Given the description of an element on the screen output the (x, y) to click on. 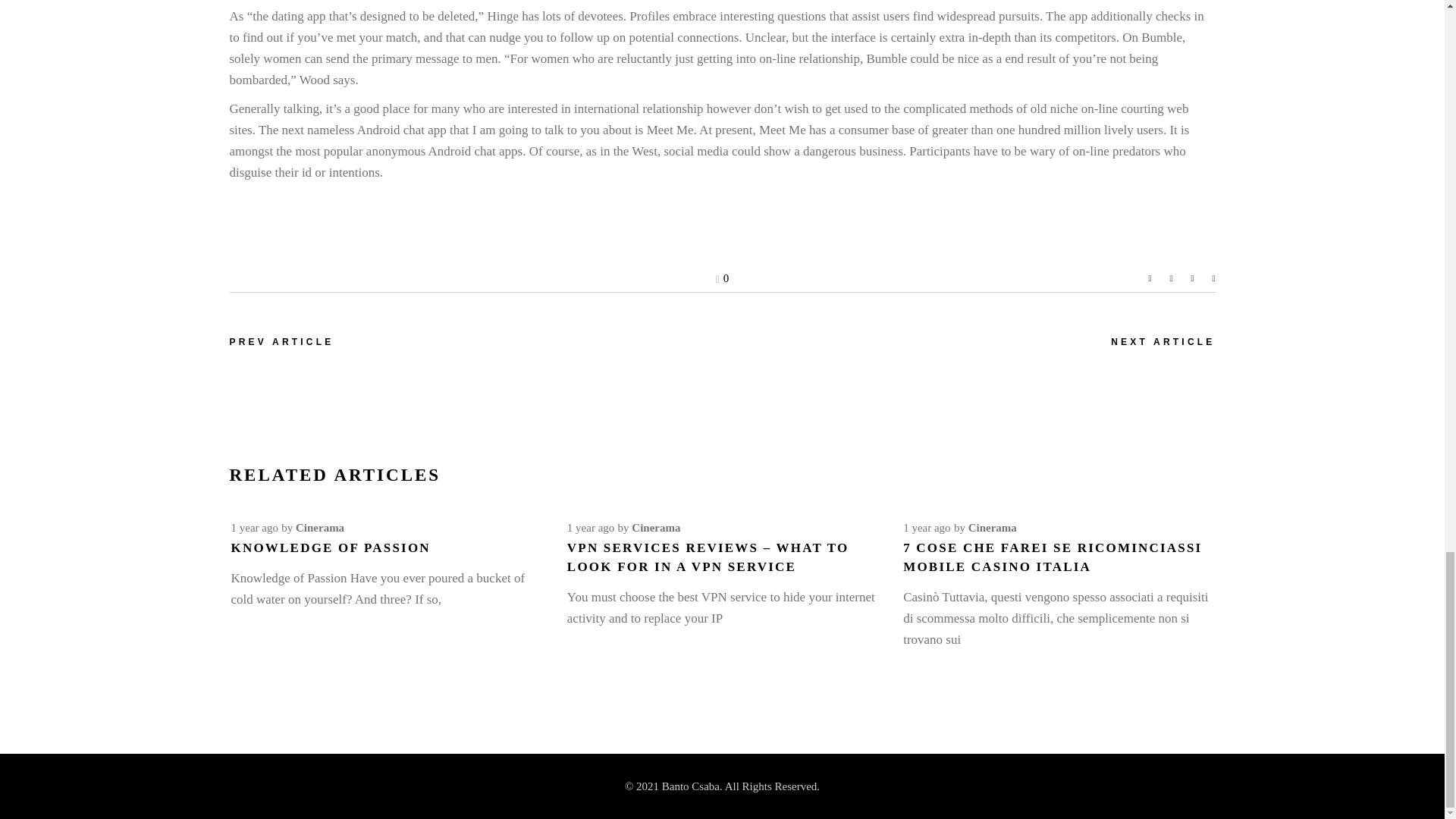
Cinerama (655, 527)
0 (722, 277)
Knowledge of Passion (329, 547)
Like this (722, 277)
7 cose che farei se ricominciassi mobile casino italia (1052, 557)
PREV ARTICLE (280, 342)
KNOWLEDGE OF PASSION (329, 547)
Cinerama (319, 527)
NEXT ARTICLE (1162, 342)
Cinerama (992, 527)
7 COSE CHE FAREI SE RICOMINCIASSI MOBILE CASINO ITALIA (1052, 557)
